Given the description of an element on the screen output the (x, y) to click on. 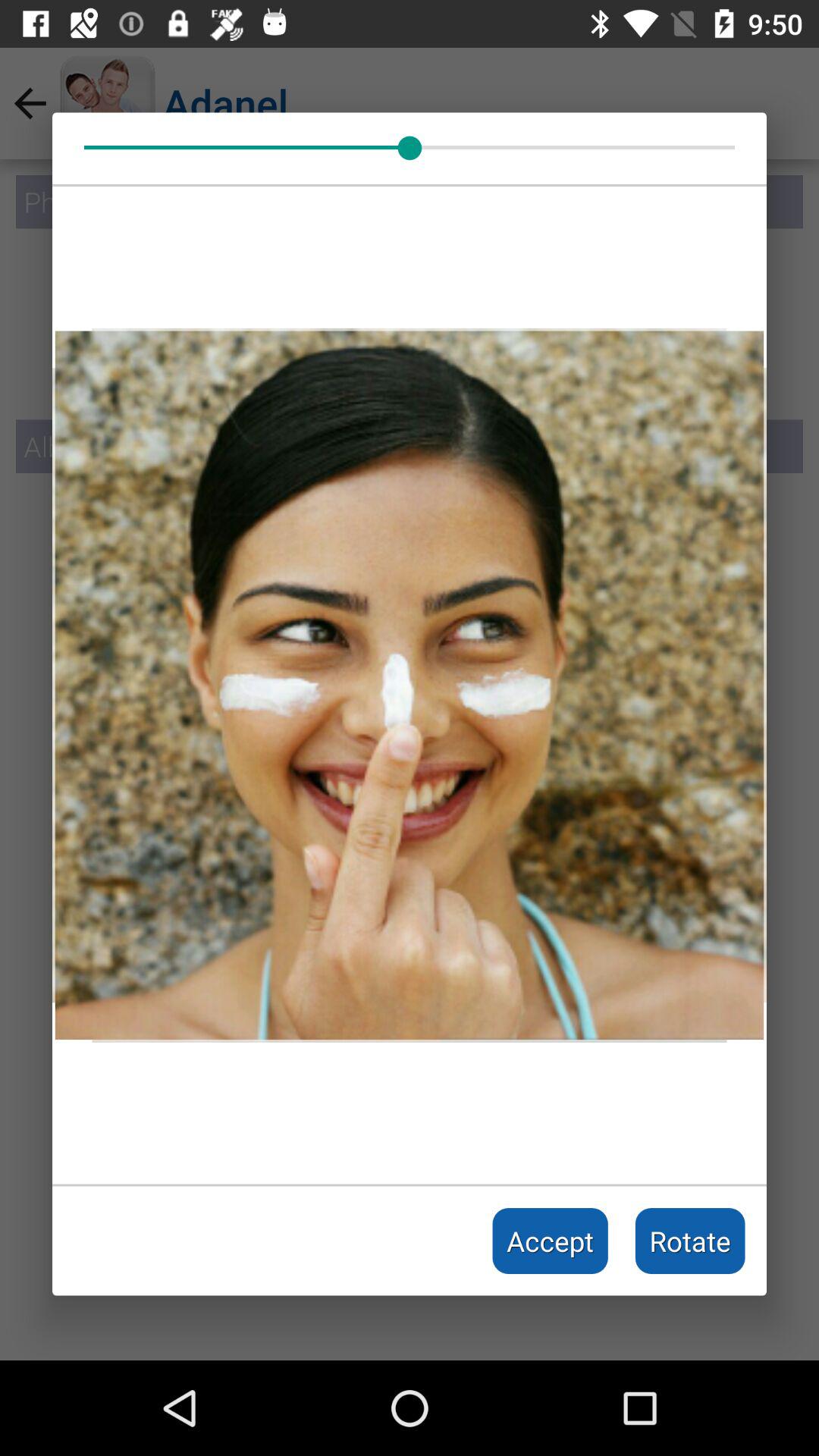
select the icon next to rotate (549, 1240)
